Given the description of an element on the screen output the (x, y) to click on. 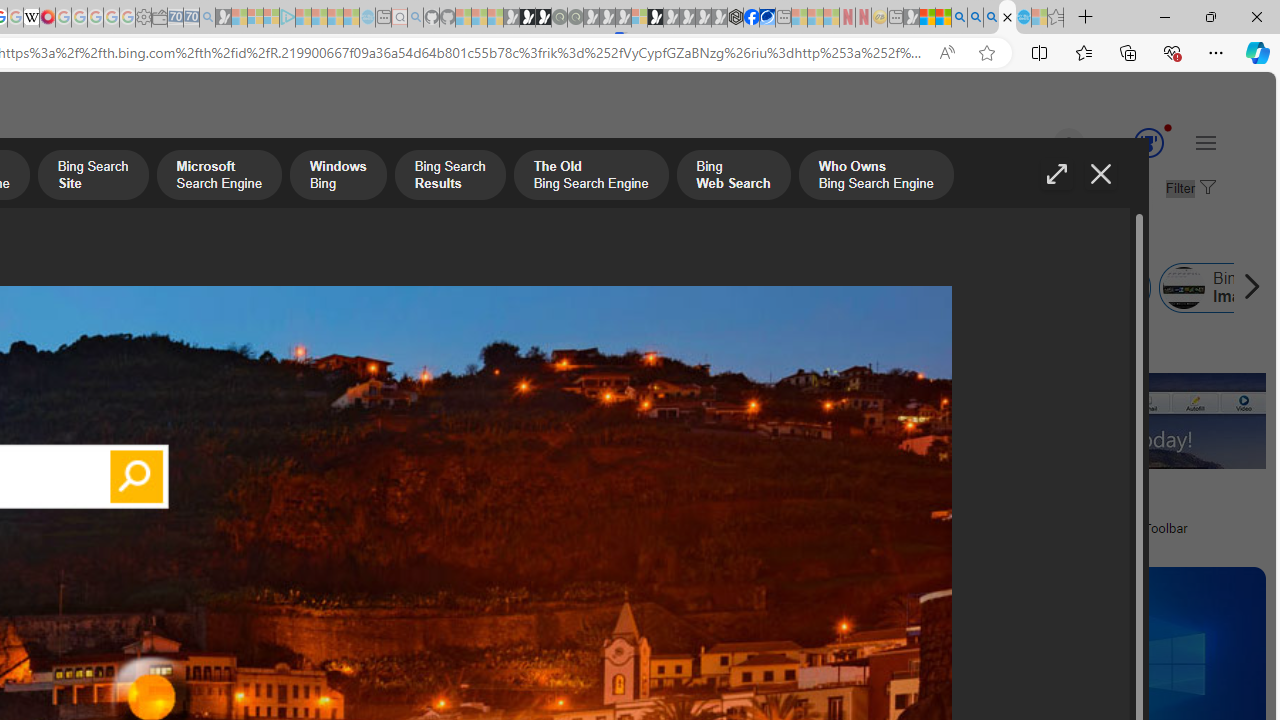
AutomationID: rh_meter (1148, 142)
3:12 (652, 585)
The Old Bing Search Engine (591, 177)
Install Bing Home (676, 287)
Download Bing Bar, the new Bing Toolbar (1069, 528)
Filter (1188, 189)
Bing Search Results (449, 177)
Bing Search Bar App (305, 287)
Play Zoo Boom in your browser | Games from Microsoft Start (527, 17)
